Given the description of an element on the screen output the (x, y) to click on. 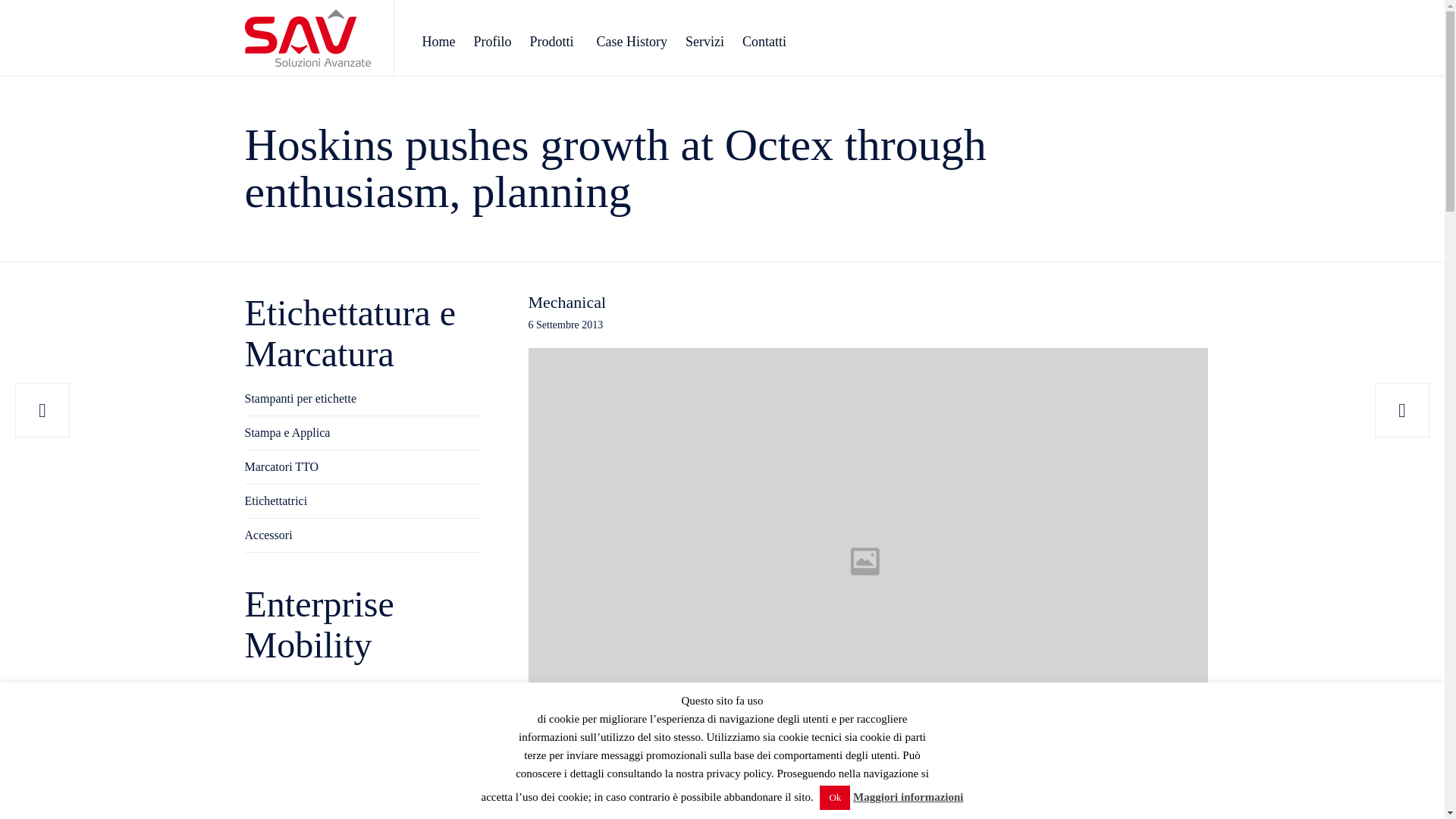
Prodotti (554, 41)
Home (438, 41)
Mechanical (566, 302)
Stampa e Applica (361, 433)
Case History (632, 41)
Etichettatrici (361, 501)
Contatti (763, 41)
Marcatori TTO (361, 467)
Profilo (491, 41)
Stampanti per etichette (361, 399)
Servizi (705, 41)
